Given the description of an element on the screen output the (x, y) to click on. 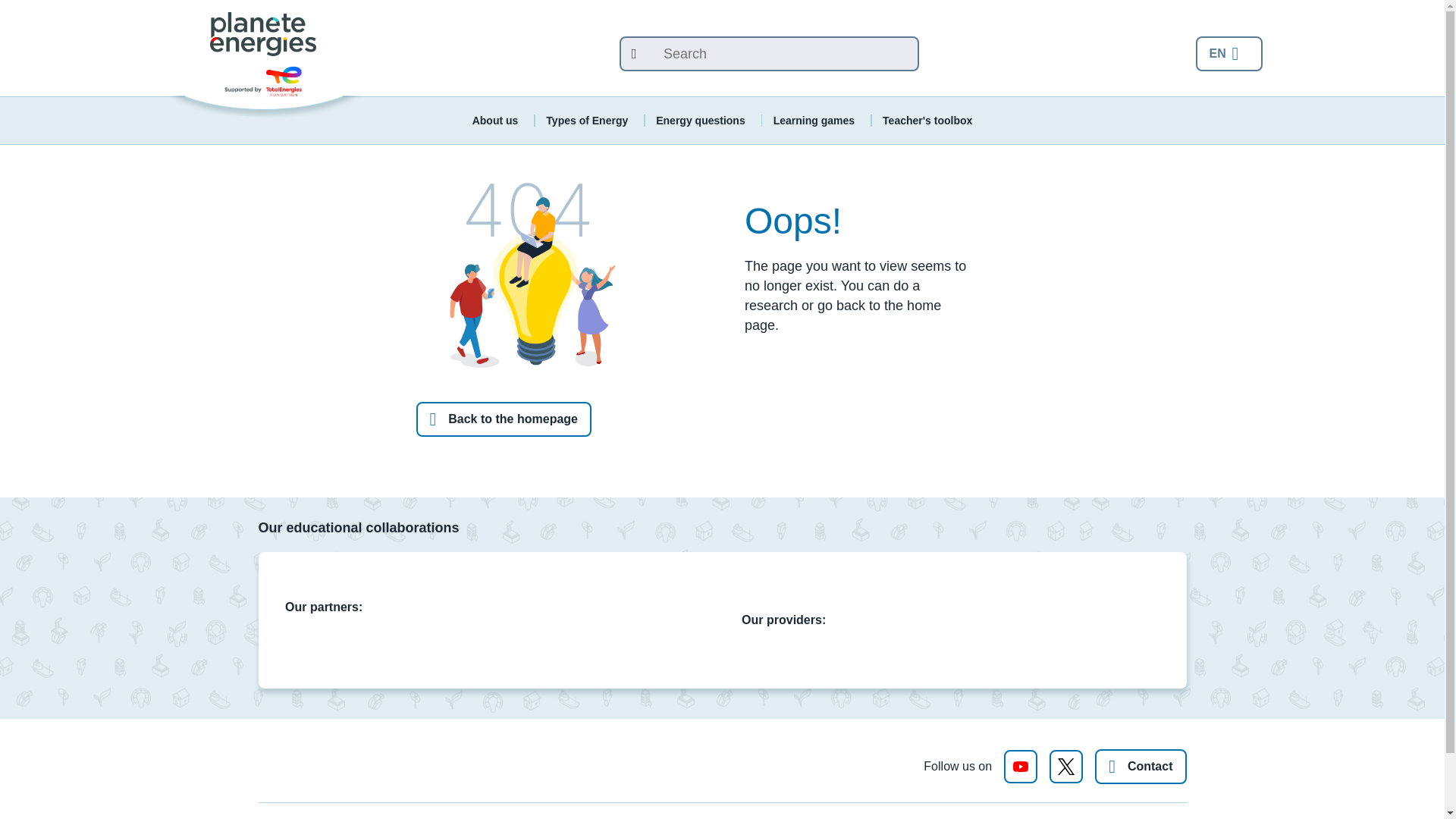
Types of Energy (586, 120)
Energy questions (700, 120)
Follow us on X (1066, 766)
About us (494, 120)
Follow us on Youtube (1020, 766)
